Given the description of an element on the screen output the (x, y) to click on. 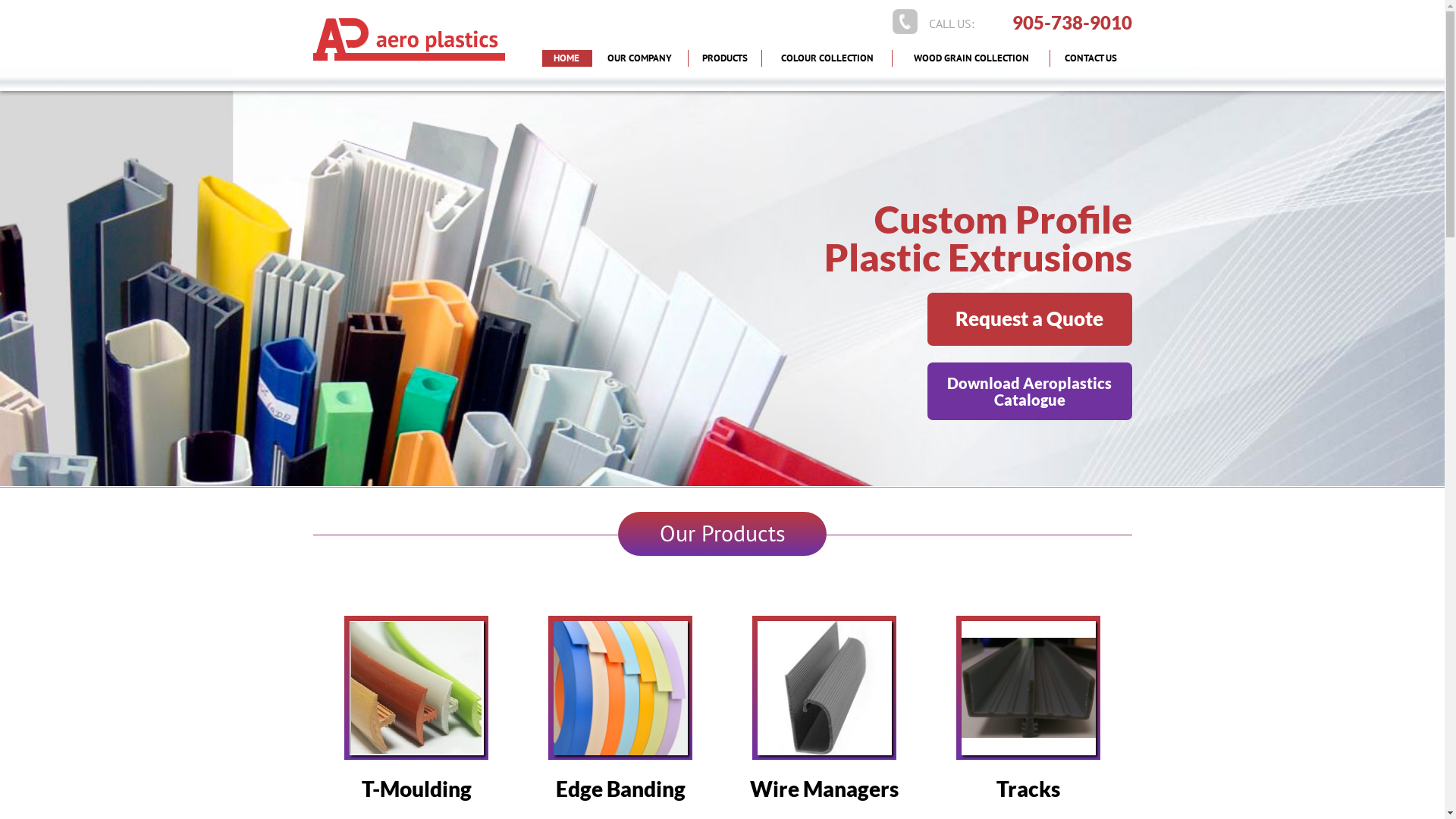
Request a Quote Element type: text (1028, 318)
Tracks Element type: text (1028, 788)
CONTACT US Element type: text (1090, 58)
T-Moulding Element type: text (415, 788)
COLOUR COLLECTION Element type: text (827, 58)
WOOD GRAIN COLLECTION Element type: text (971, 58)
Wire Managers Element type: text (823, 788)
Download Aeroplastics Catalogue Element type: text (1028, 391)
HOME Element type: text (566, 58)
Edge Banding Element type: text (619, 788)
905-738-9010 Element type: text (1071, 22)
PRODUCTS Element type: text (725, 58)
OUR COMPANY Element type: text (640, 58)
